Given the description of an element on the screen output the (x, y) to click on. 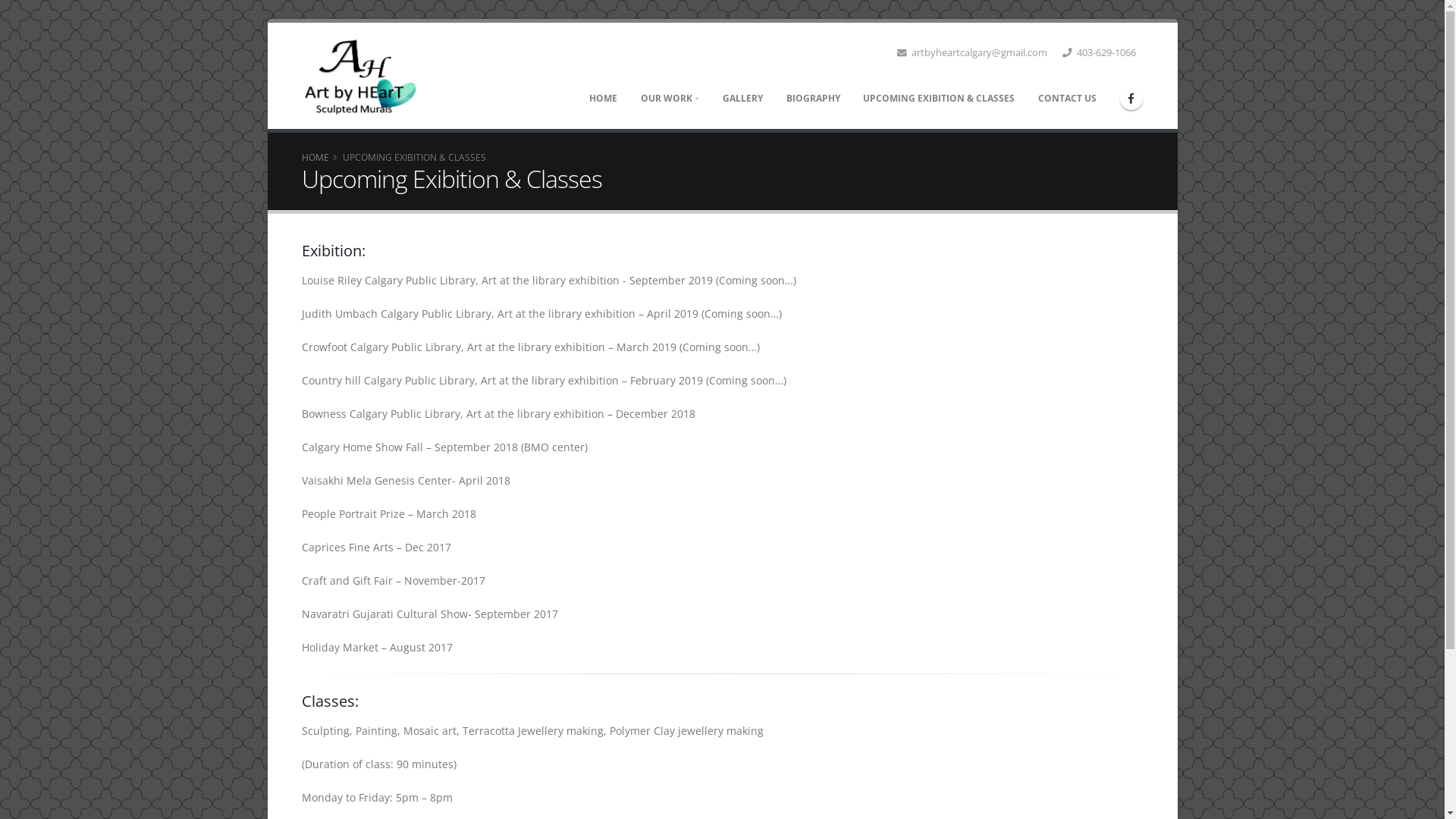
HOME Element type: text (603, 98)
Facebook Element type: hover (1131, 97)
BIOGRAPHY Element type: text (812, 98)
GALLERY Element type: text (742, 98)
CONTACT US Element type: text (1067, 98)
HOME Element type: text (315, 156)
UPCOMING EXIBITION & CLASSES Element type: text (939, 98)
OUR WORK Element type: text (670, 98)
